Given the description of an element on the screen output the (x, y) to click on. 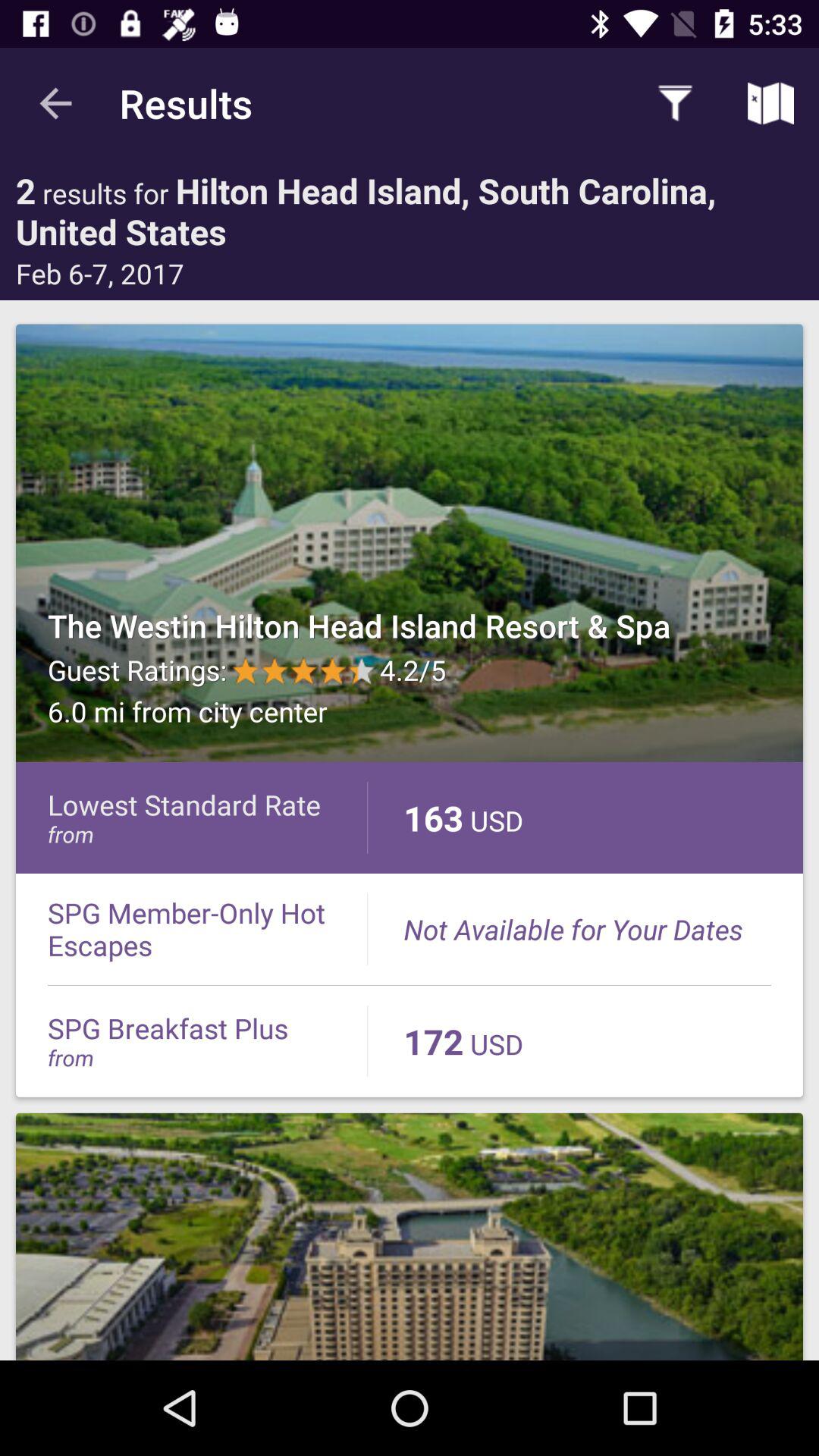
one of the search results (409, 543)
